Given the description of an element on the screen output the (x, y) to click on. 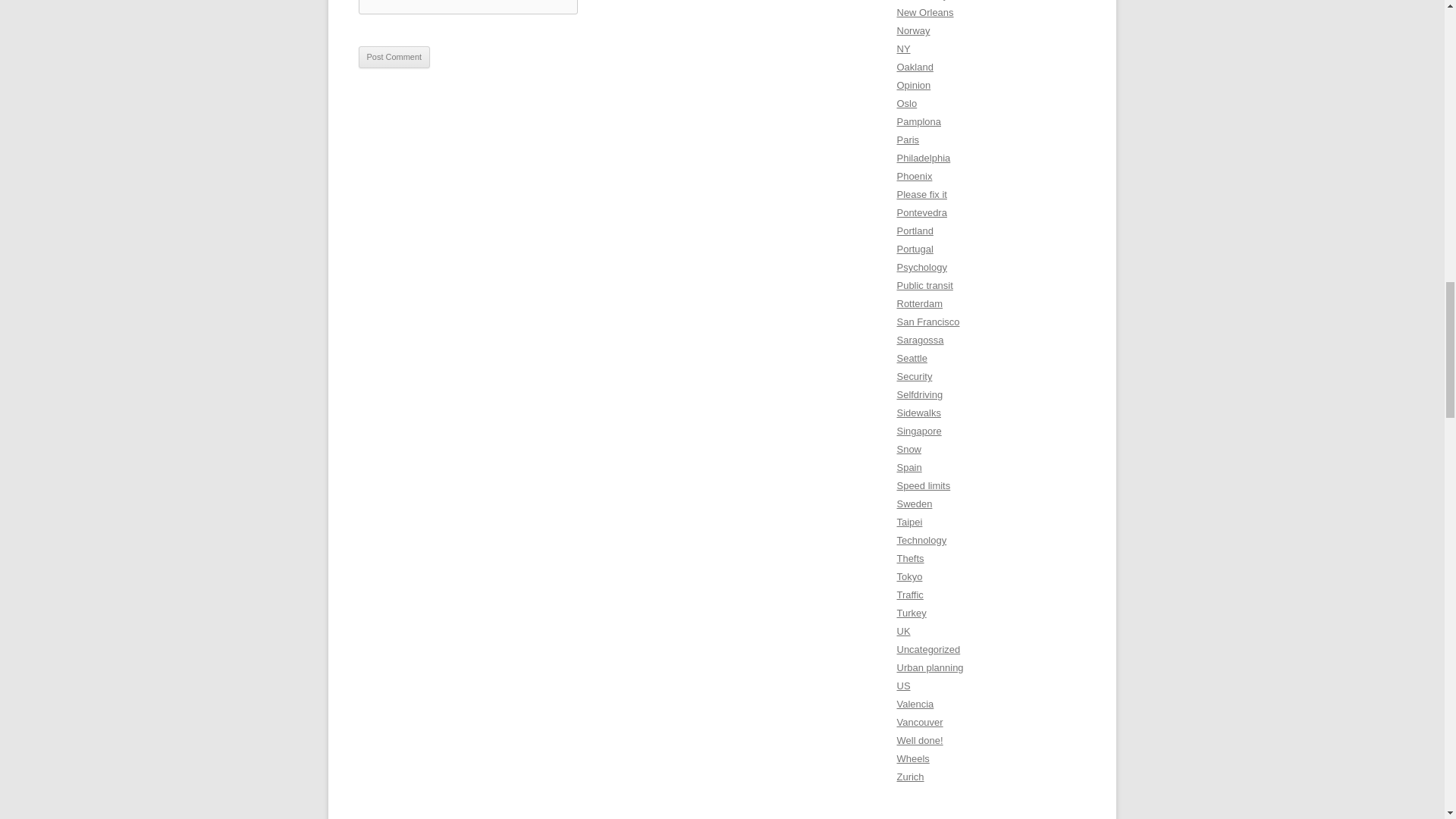
Post Comment (393, 56)
Post Comment (393, 56)
